Given the description of an element on the screen output the (x, y) to click on. 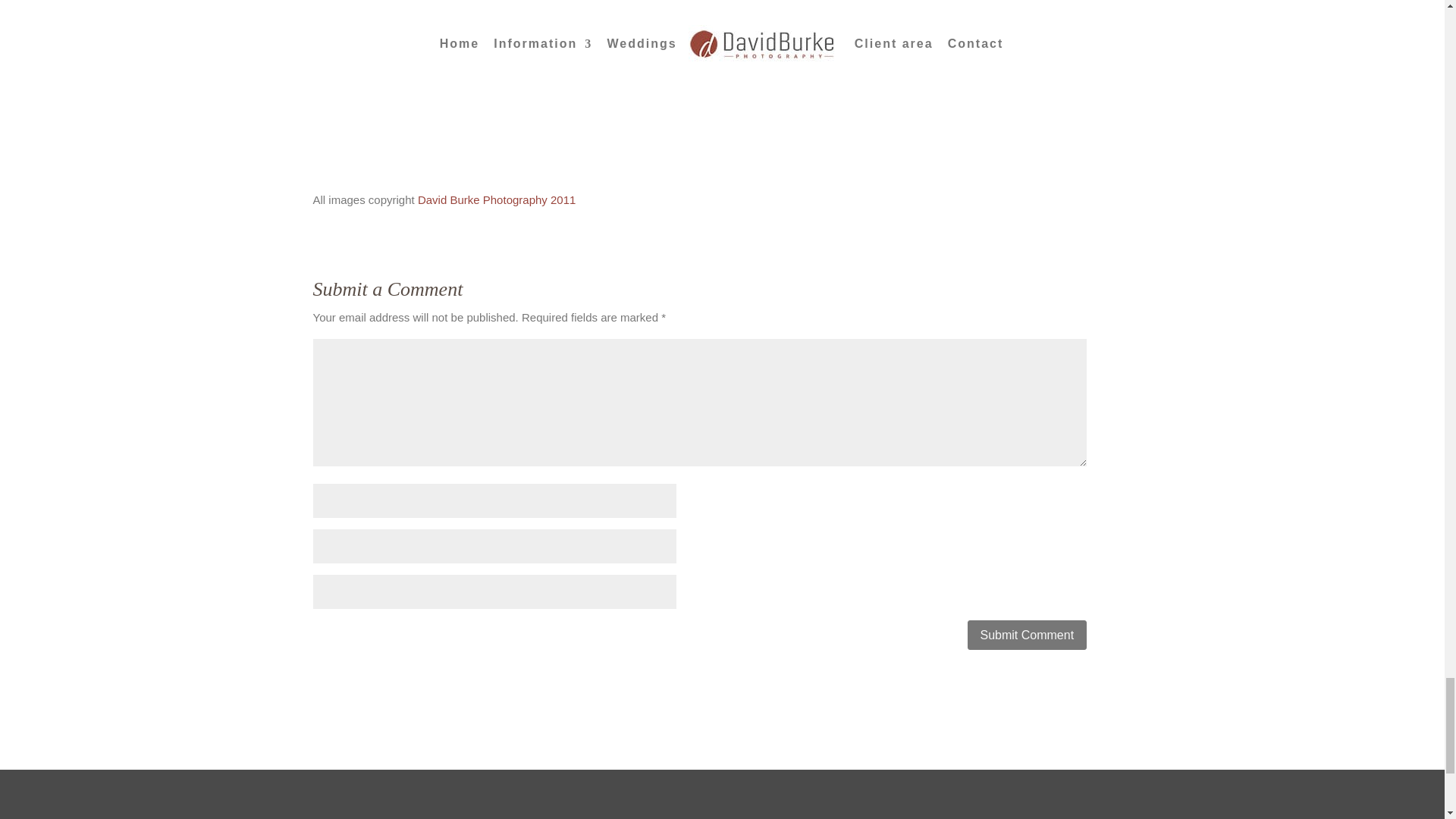
Submit Comment (1027, 634)
Submit Comment (1027, 634)
David Burke Photography 2011 (496, 199)
